Given the description of an element on the screen output the (x, y) to click on. 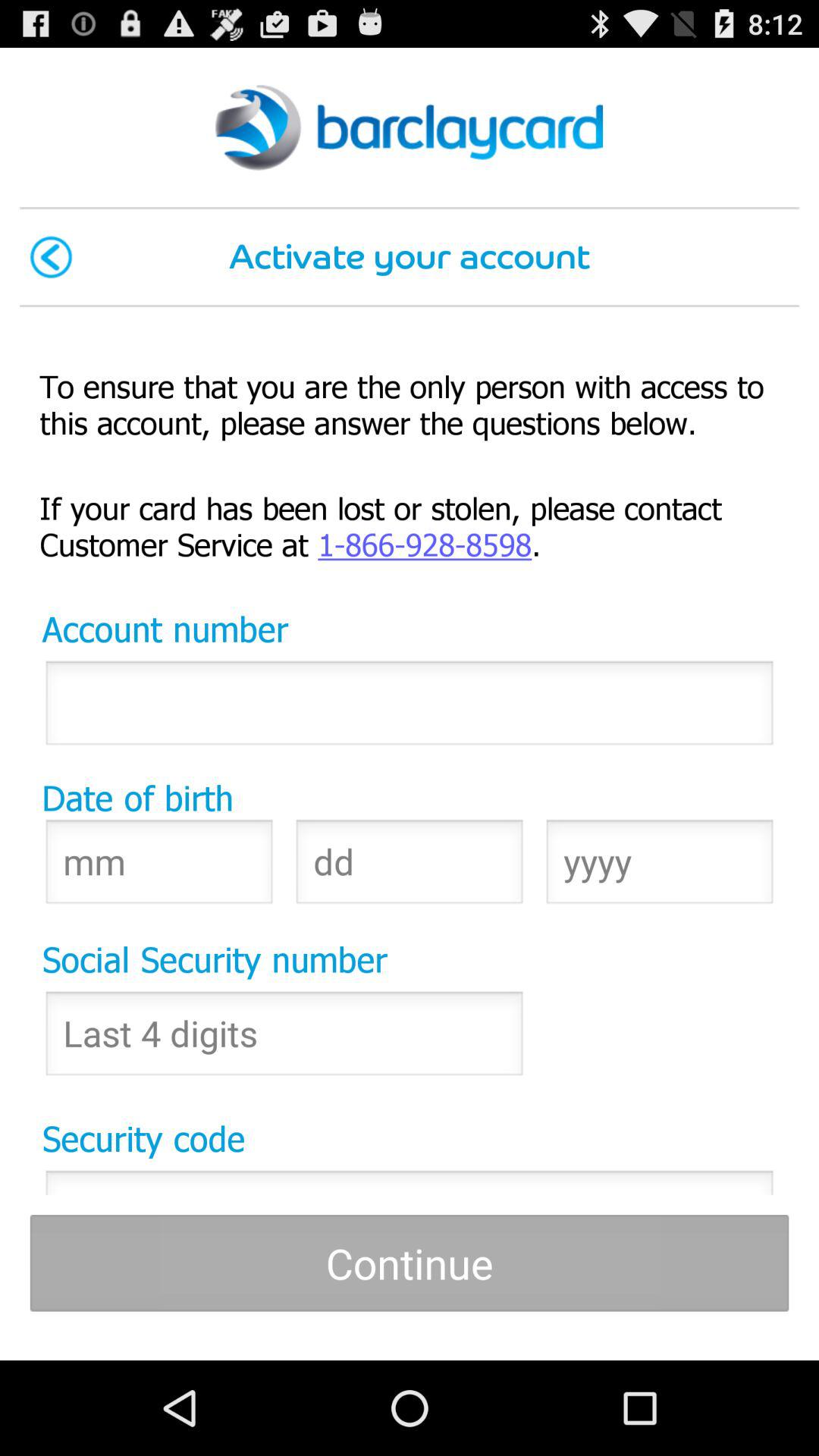
scroll until if your card item (409, 525)
